Given the description of an element on the screen output the (x, y) to click on. 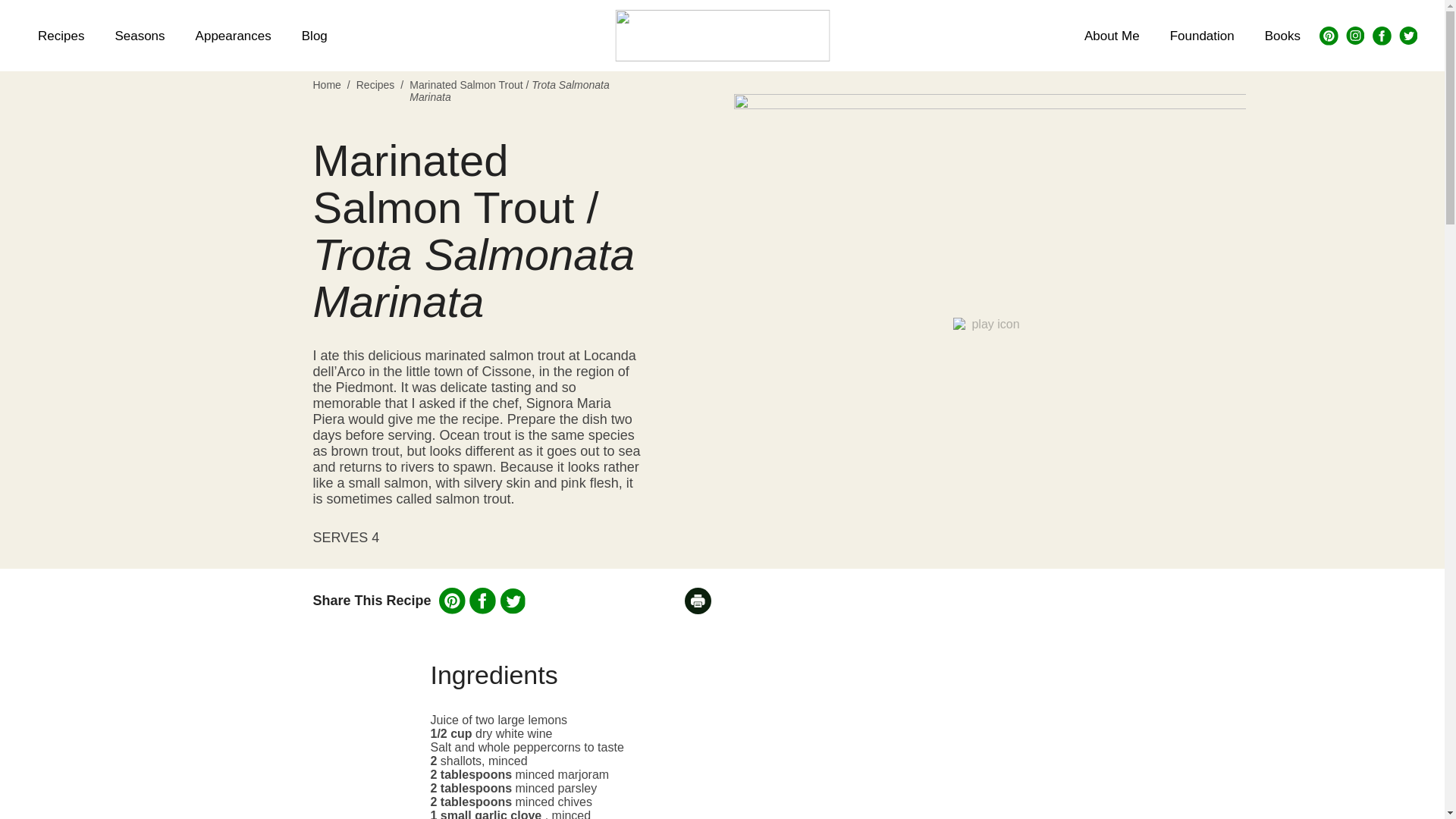
Seasons (139, 35)
Recipes (375, 90)
Appearances (233, 35)
homepage (721, 35)
Foundation (1201, 35)
About Me (1111, 35)
Books (1282, 35)
Home (326, 90)
Recipes (61, 35)
